Given the description of an element on the screen output the (x, y) to click on. 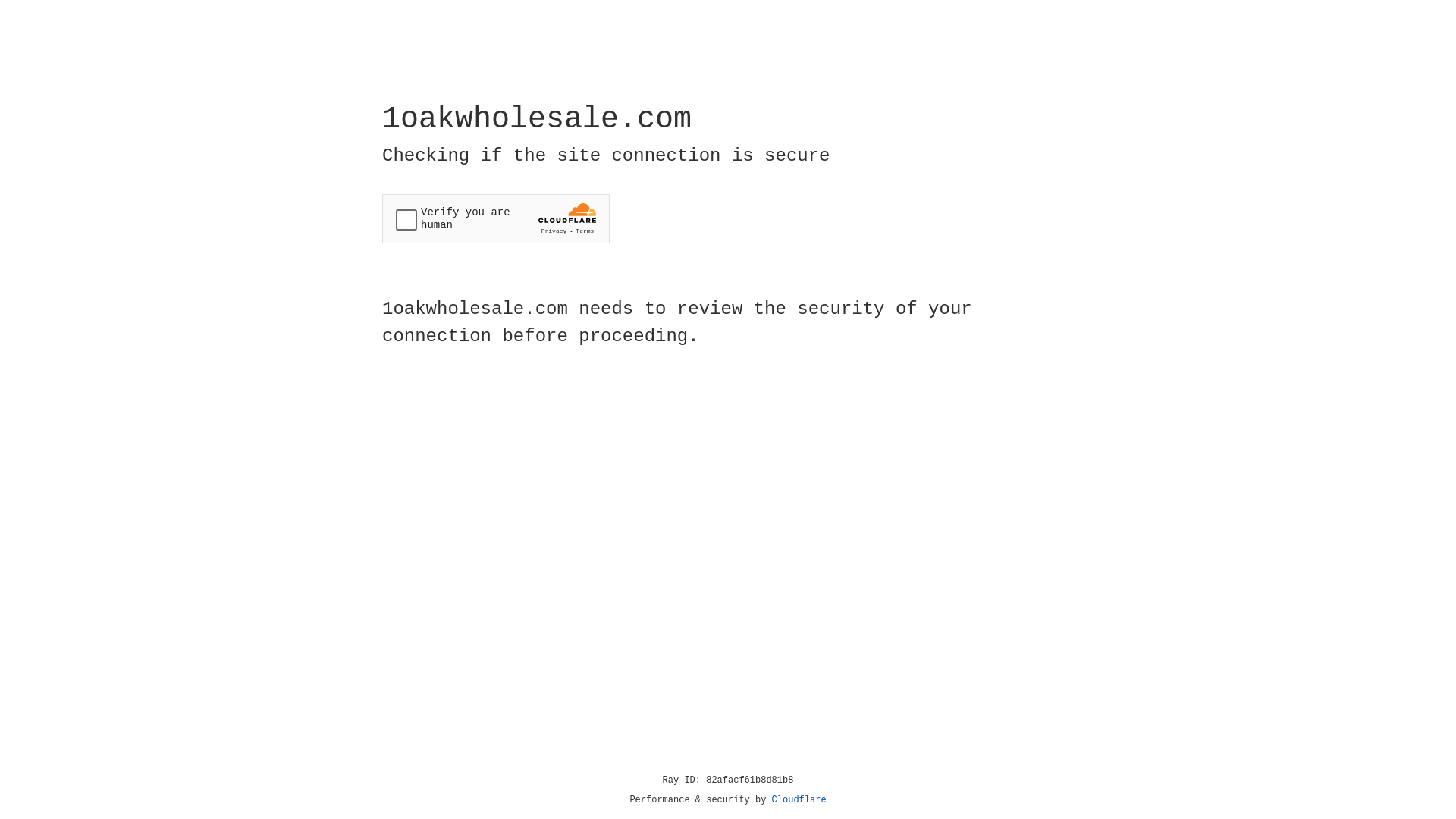
Cloudflare Element type: text (798, 799)
Widget containing a Cloudflare security challenge Element type: hover (495, 218)
